Given the description of an element on the screen output the (x, y) to click on. 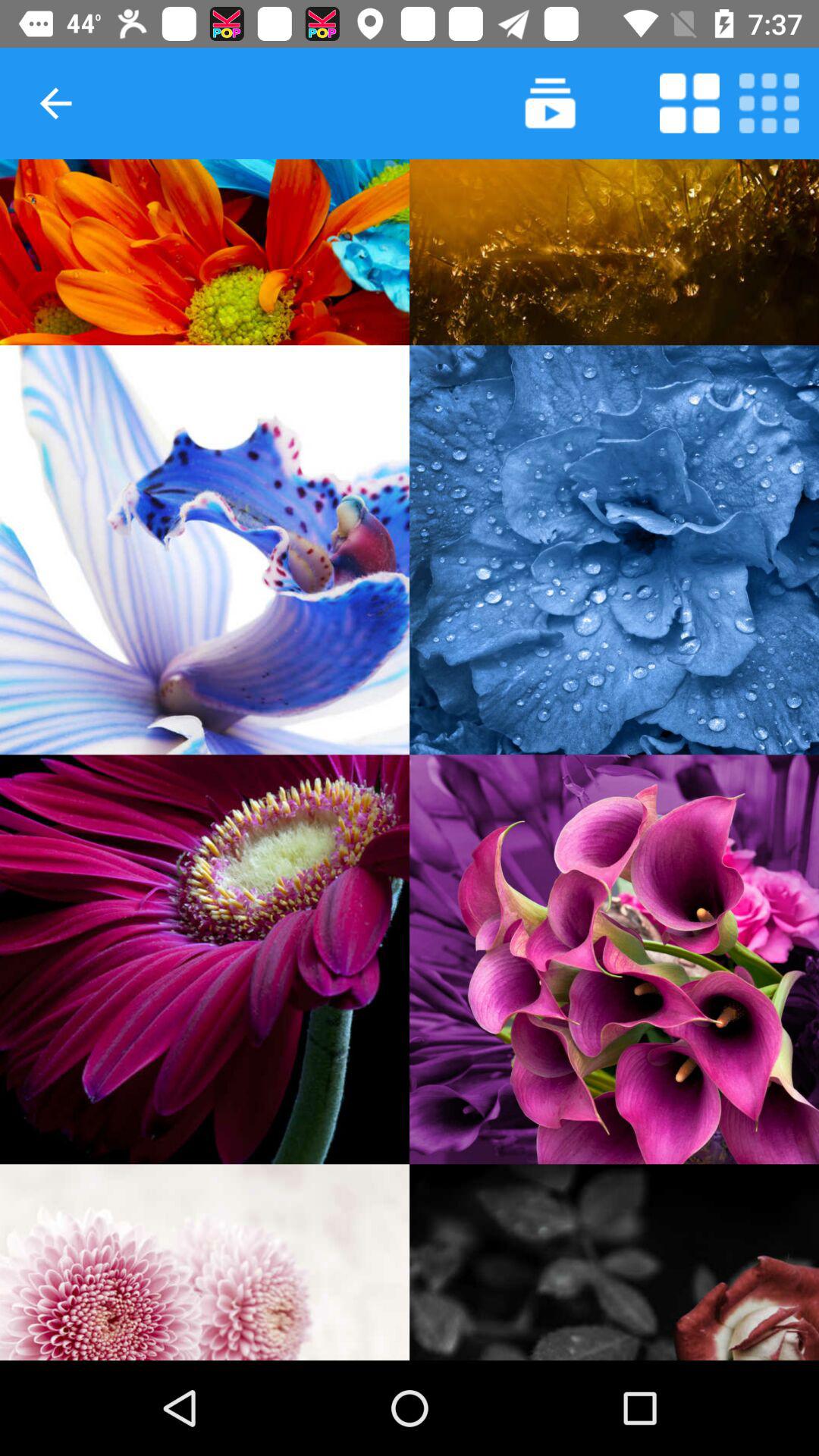
video (550, 103)
